Given the description of an element on the screen output the (x, y) to click on. 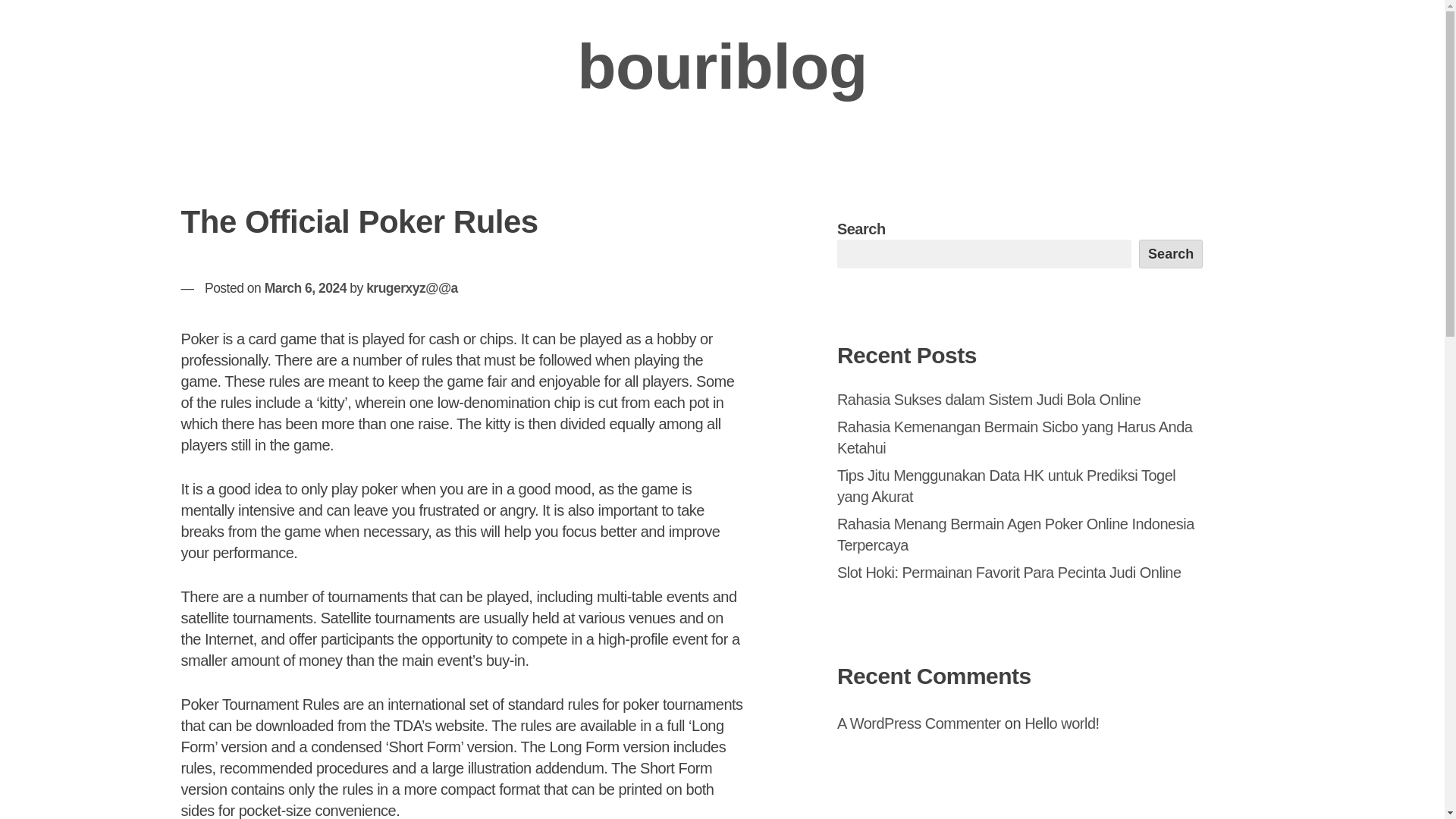
A WordPress Commenter (919, 723)
Search (1171, 253)
Hello world! (1062, 723)
Rahasia Sukses dalam Sistem Judi Bola Online (988, 399)
bouriblog (721, 66)
Rahasia Kemenangan Bermain Sicbo yang Harus Anda Ketahui (1014, 437)
March 6, 2024 (305, 287)
Slot Hoki: Permainan Favorit Para Pecinta Judi Online (1008, 572)
